Given the description of an element on the screen output the (x, y) to click on. 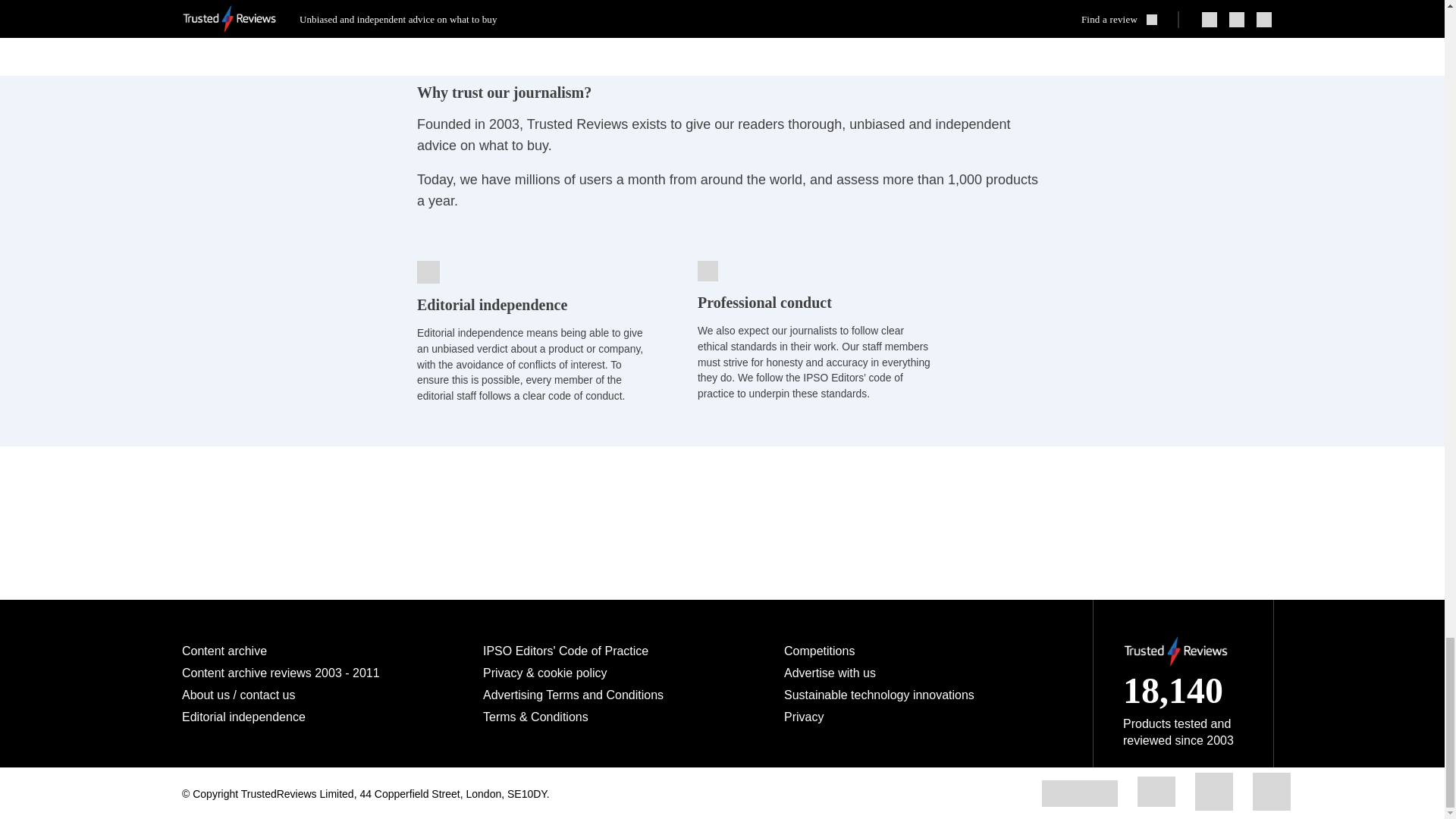
Visit our Editorial independence page (243, 716)
Visit our IPSO Editors' Code of Practice page (565, 650)
Visit our Advertising Terms and Conditions page (573, 694)
Visit our Content archive reviews 2003 - 2011 page (281, 672)
Visit our Content archive page (224, 650)
